Given the description of an element on the screen output the (x, y) to click on. 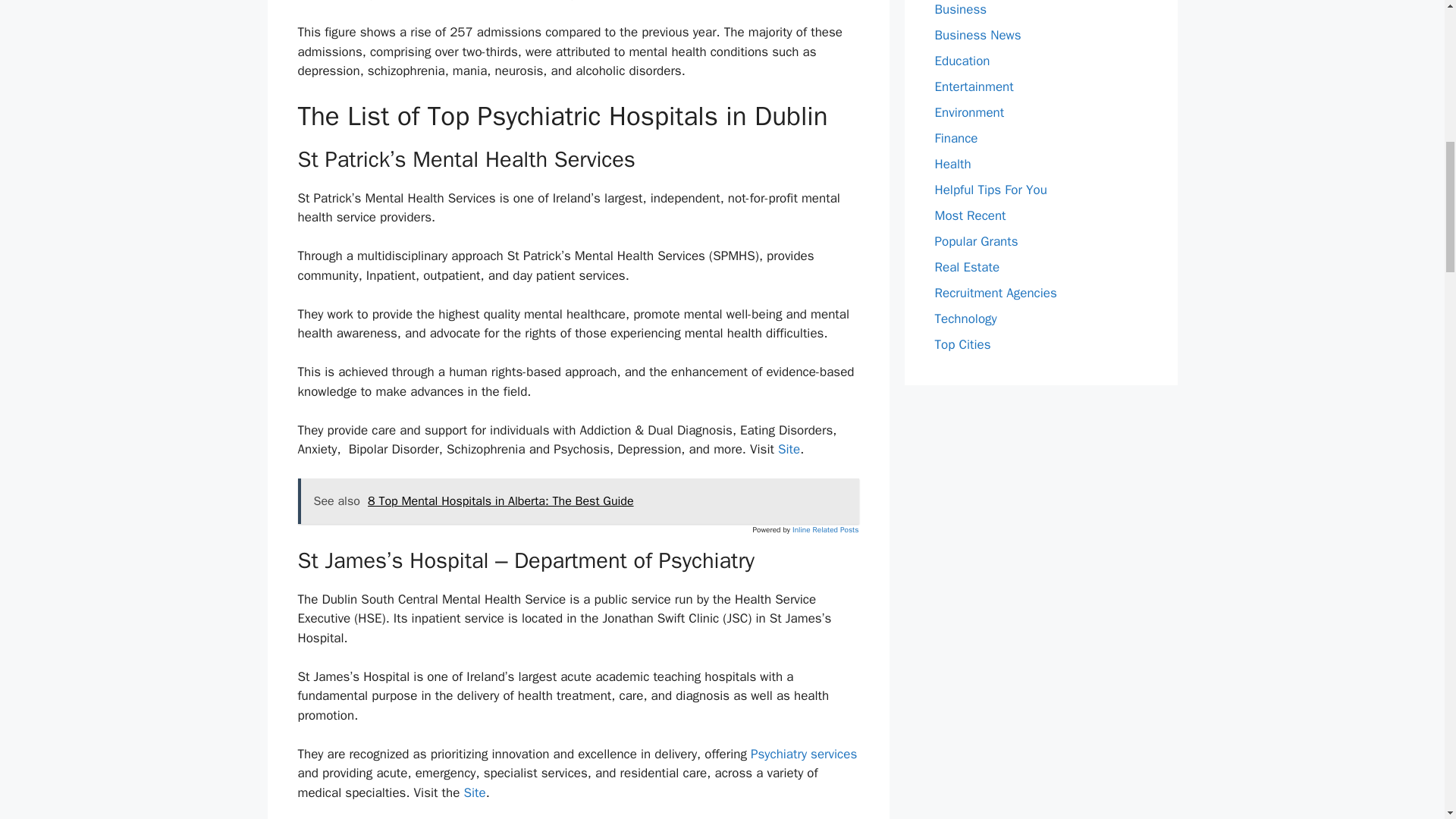
2018 (814, 0)
Inline Related Posts (825, 529)
Site (788, 449)
See also  8 Top Mental Hospitals in Alberta: The Best Guide (578, 501)
Site (473, 792)
Psychiatry services (804, 754)
